Given the description of an element on the screen output the (x, y) to click on. 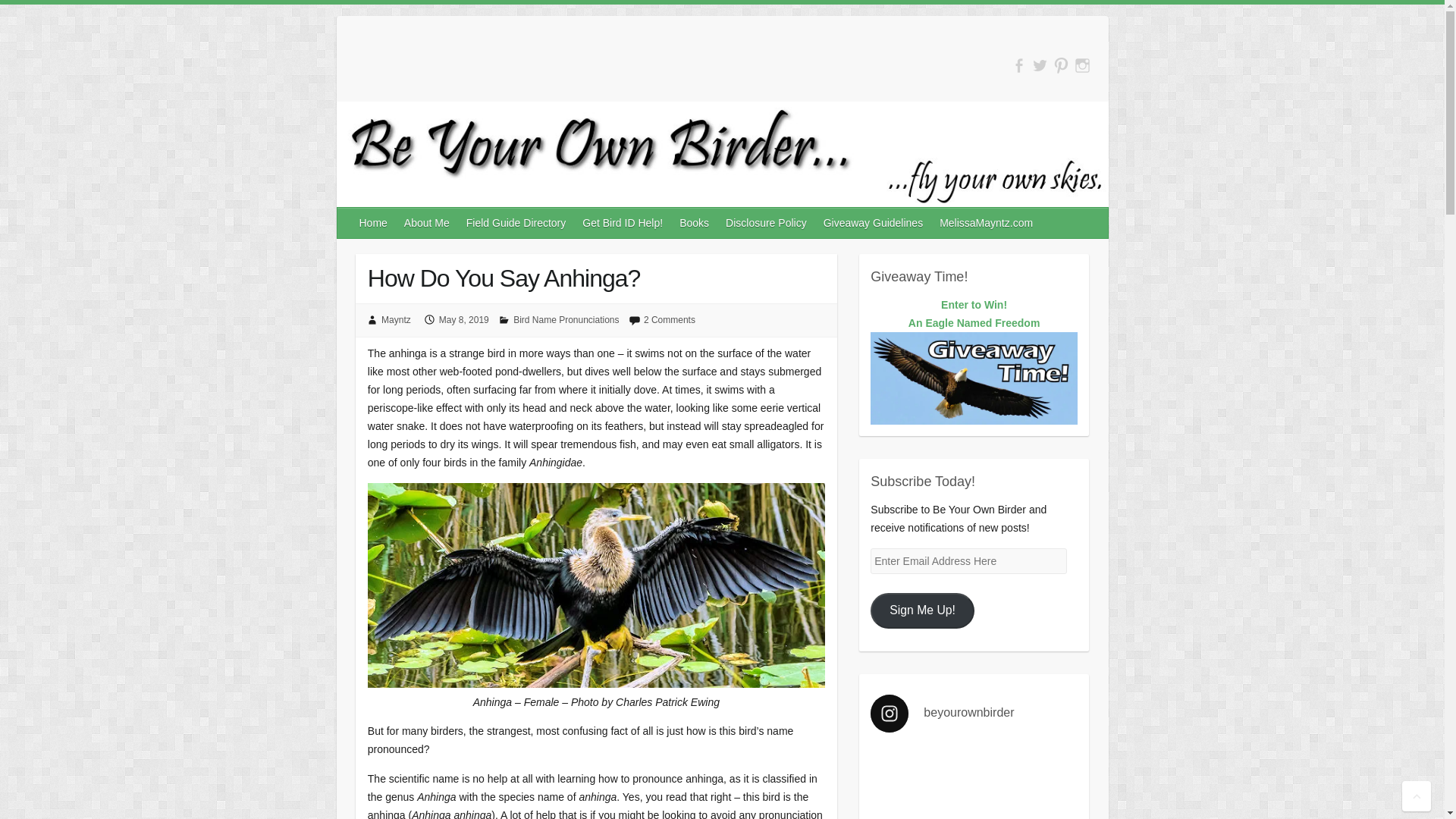
Home (374, 223)
2 Comments (669, 319)
beyourownbirder (973, 713)
Be Your Own Birder on Instagram (973, 322)
Be Your Own Birder on Facebook (1082, 65)
Bird Name Pronunciations (1019, 65)
Sign Me Up! (565, 319)
Get Bird ID Help! (922, 610)
Be Your Own Birder on Pinterest (623, 223)
May 8, 2019 (1061, 65)
Giveaway Guidelines (464, 319)
MelissaMayntz.com (874, 223)
Books (986, 223)
Field Guide Directory (694, 223)
